Given the description of an element on the screen output the (x, y) to click on. 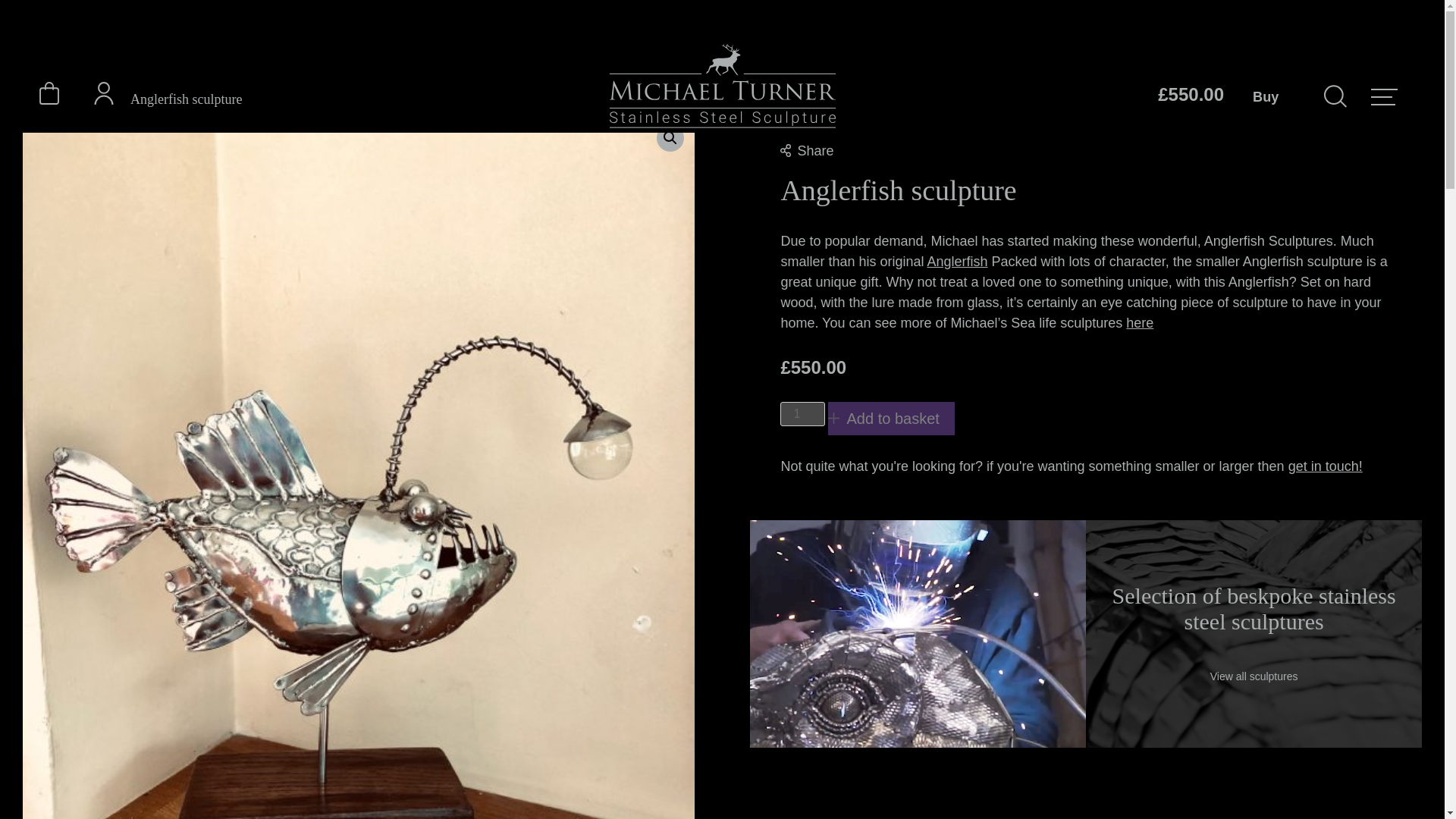
View your shopping cart (49, 101)
Buy (1276, 96)
Anglerfish (957, 261)
Add to basket (891, 418)
here (1139, 322)
Share (806, 151)
View all sculptures (1253, 676)
get in touch! (1325, 466)
1 (802, 413)
